Given the description of an element on the screen output the (x, y) to click on. 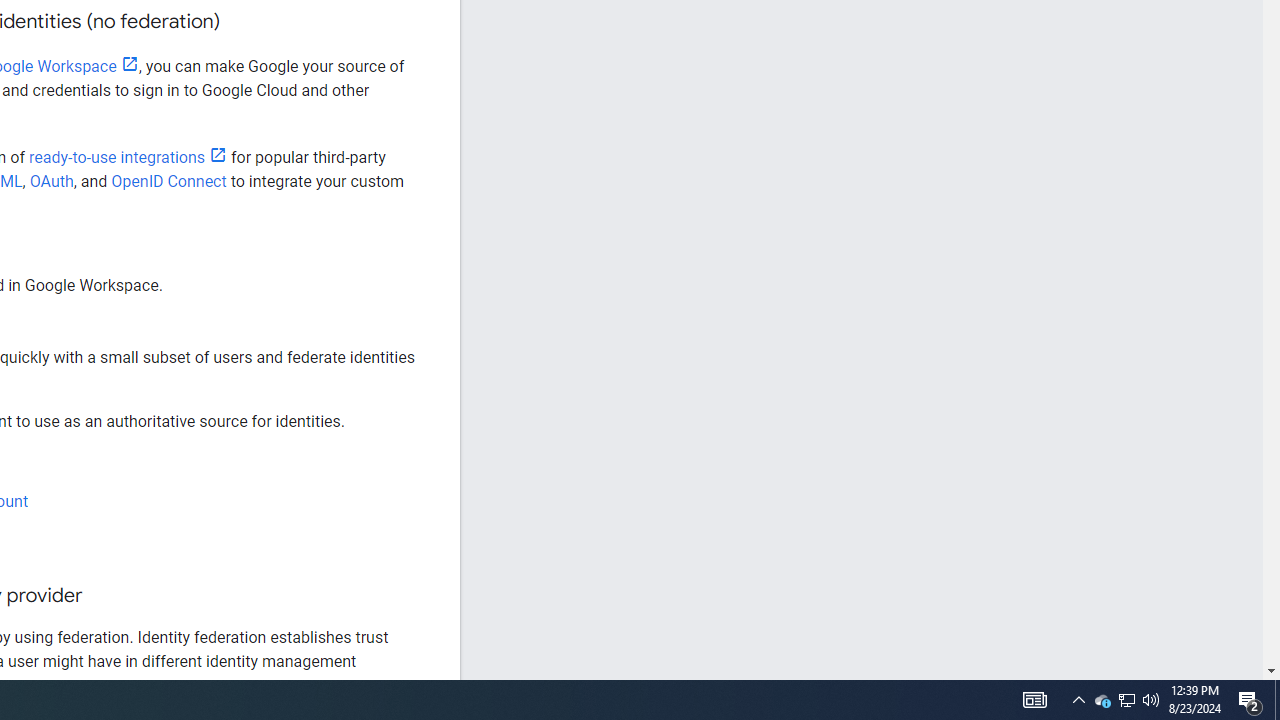
OpenID Connect (168, 181)
OAuth (51, 181)
ready-to-use integrations (127, 157)
